Given the description of an element on the screen output the (x, y) to click on. 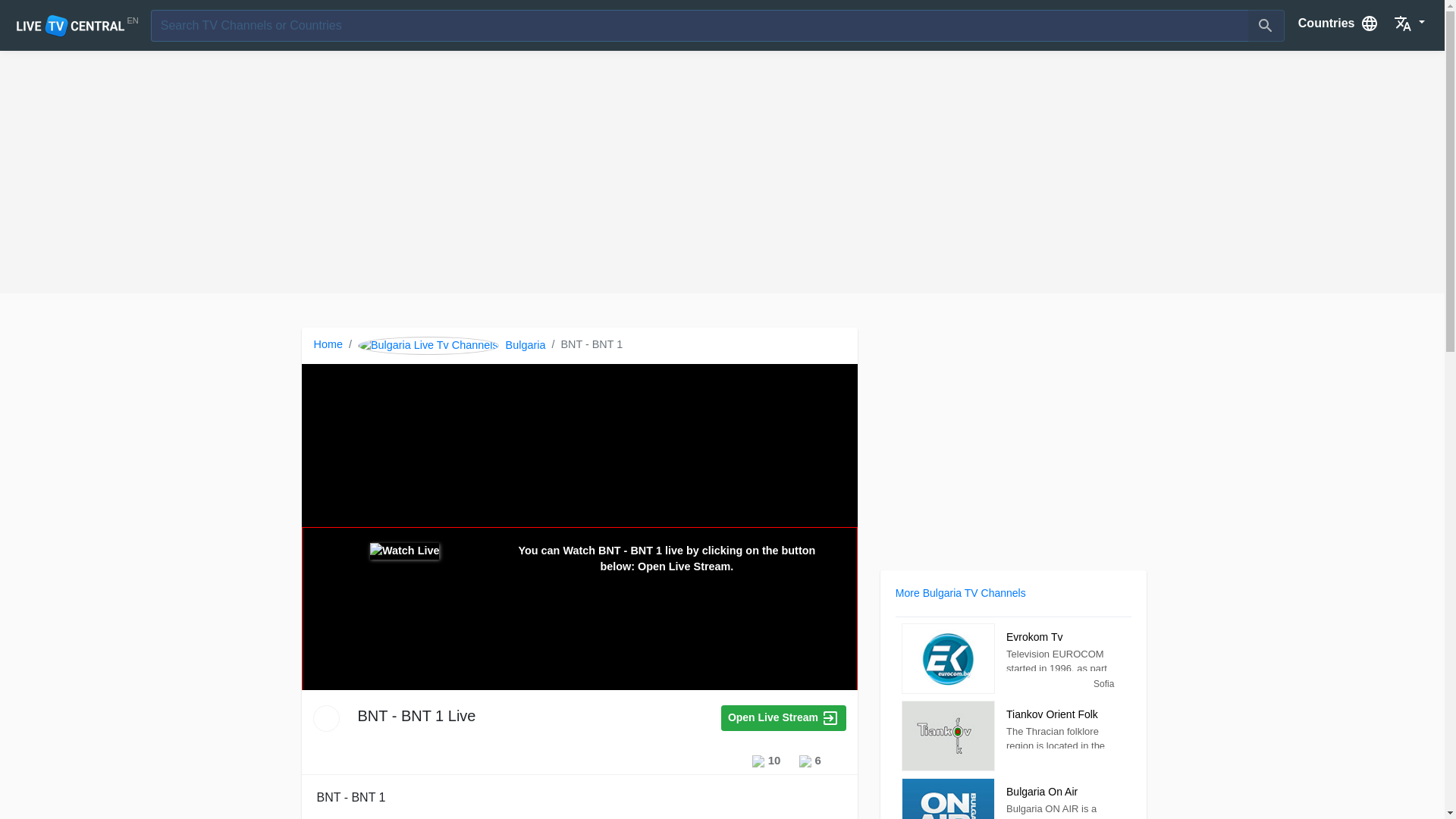
More Bulgaria TV Channels (960, 593)
Bulgaria (452, 345)
Open Live Stream (782, 718)
Bulgaria On Air (947, 798)
6 (810, 760)
Home (328, 345)
Tiankov Orient Folk (947, 736)
Countries (1338, 22)
Evrokom Tv (947, 658)
10 (766, 760)
